Given the description of an element on the screen output the (x, y) to click on. 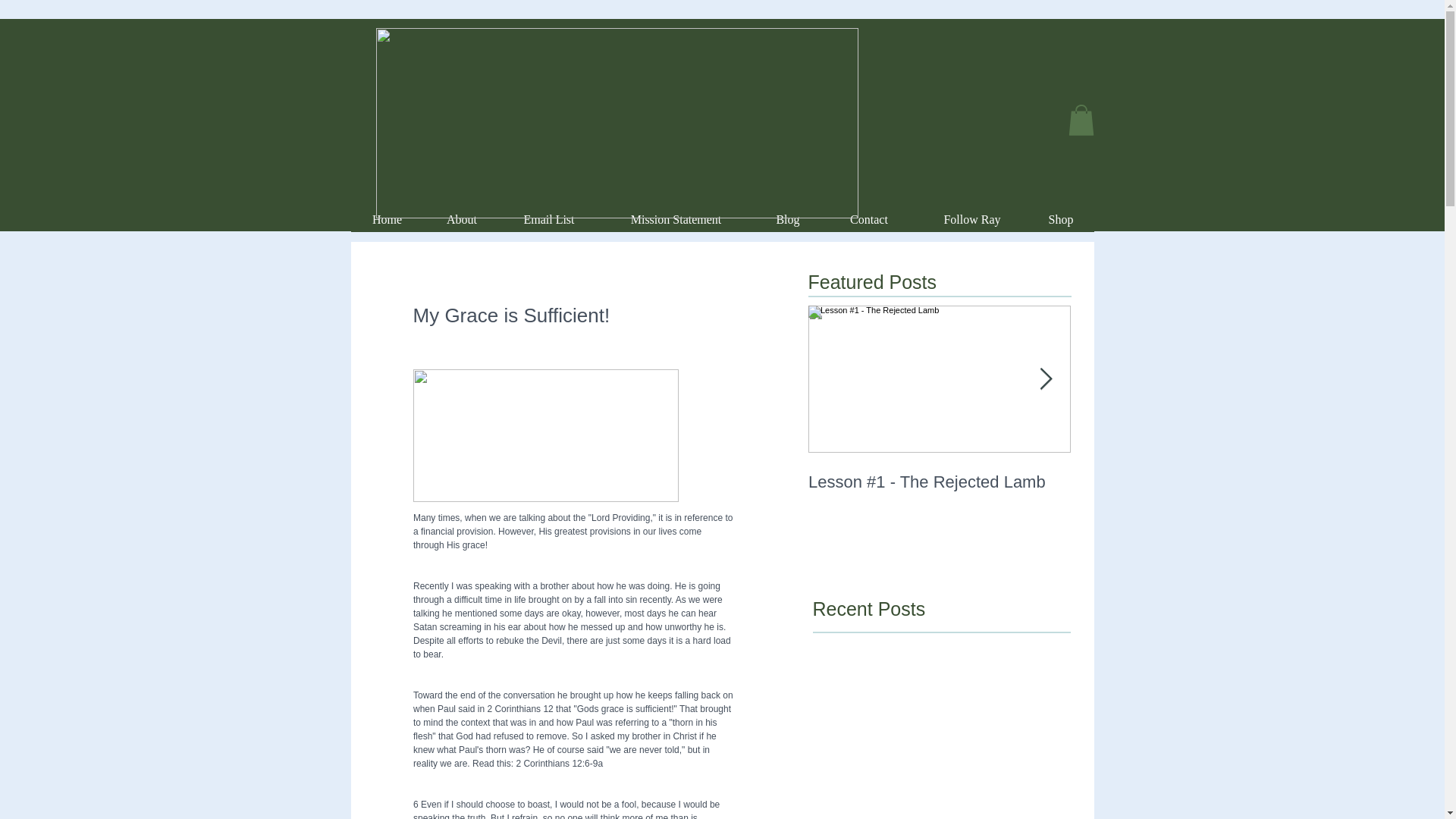
Contact (869, 224)
It Only Takes One! Be the One! (1201, 482)
Email List (549, 224)
Blog (787, 224)
Mission Statement (675, 224)
Home (386, 224)
Shop (1060, 224)
About (461, 224)
